Given the description of an element on the screen output the (x, y) to click on. 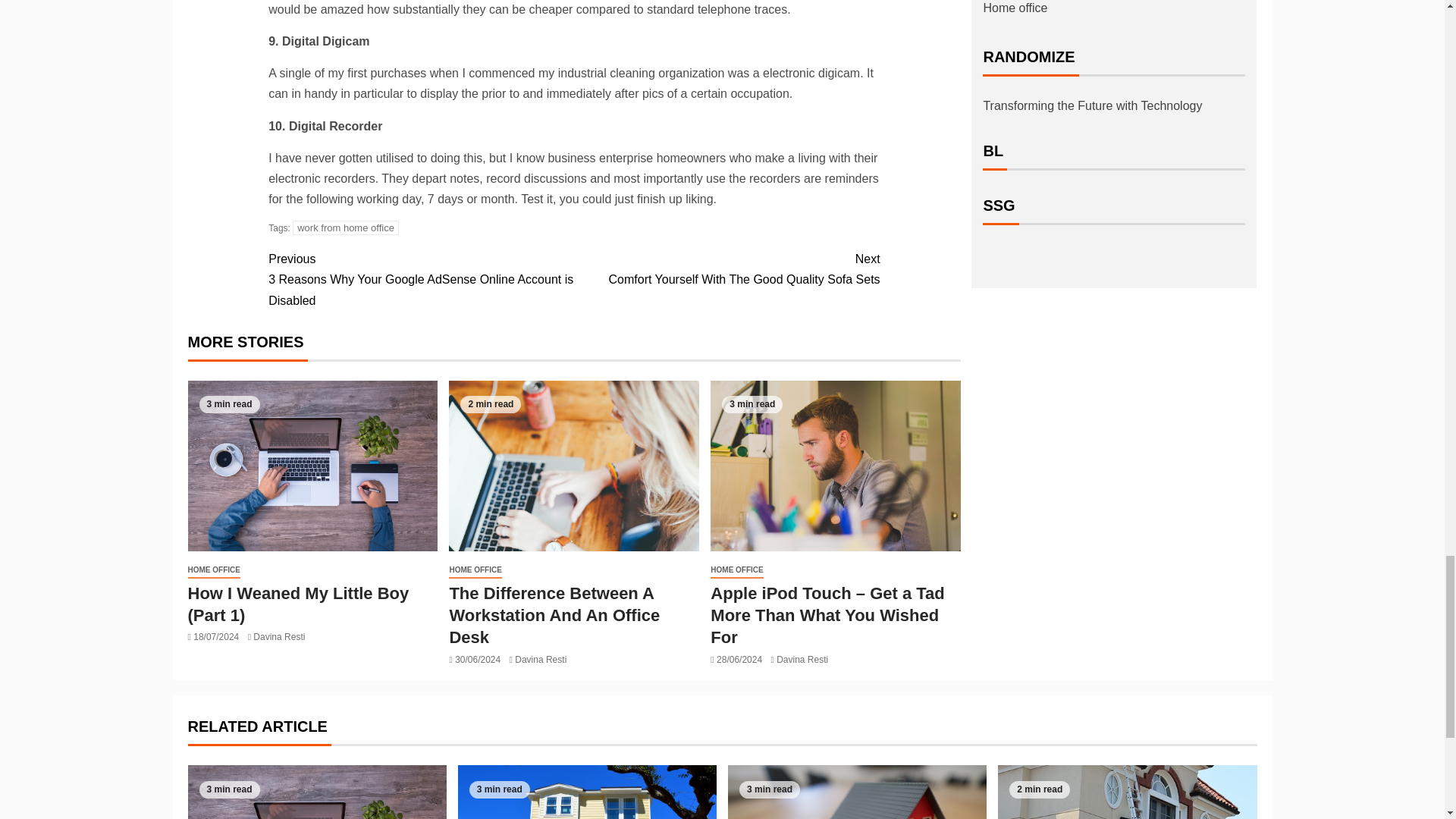
work from home office (345, 227)
The Difference Between A Workstation And An Office Desk (726, 268)
